Given the description of an element on the screen output the (x, y) to click on. 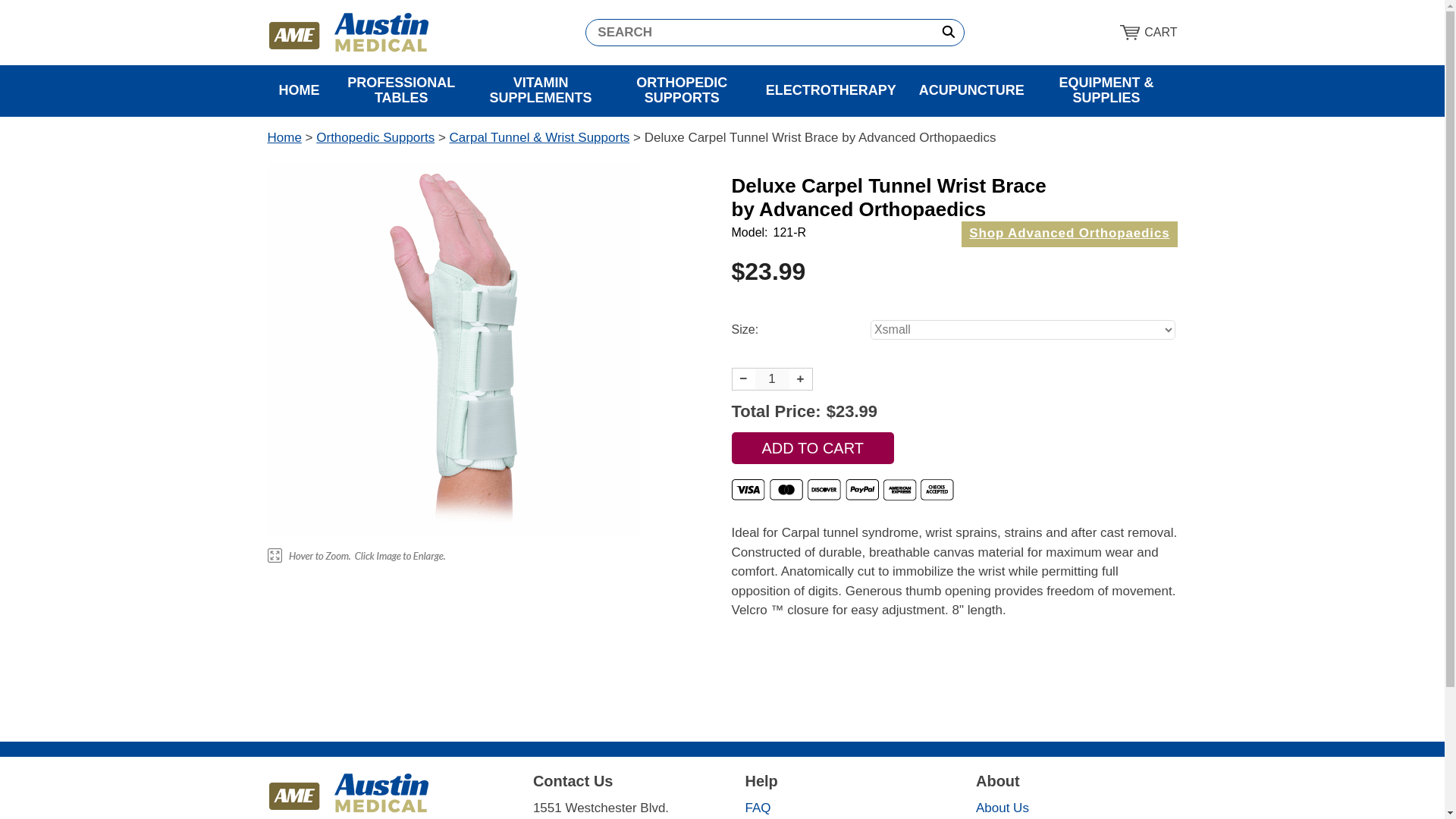
Add to Cart (811, 448)
VITAMIN SUPPLEMENTS (540, 91)
Austin Medical (347, 32)
HOME (298, 91)
Add to Cart (811, 448)
CART (1147, 32)
ORTHOPEDIC SUPPORTS (682, 91)
PROFESSIONAL TABLES (400, 91)
1 (772, 378)
